Given the description of an element on the screen output the (x, y) to click on. 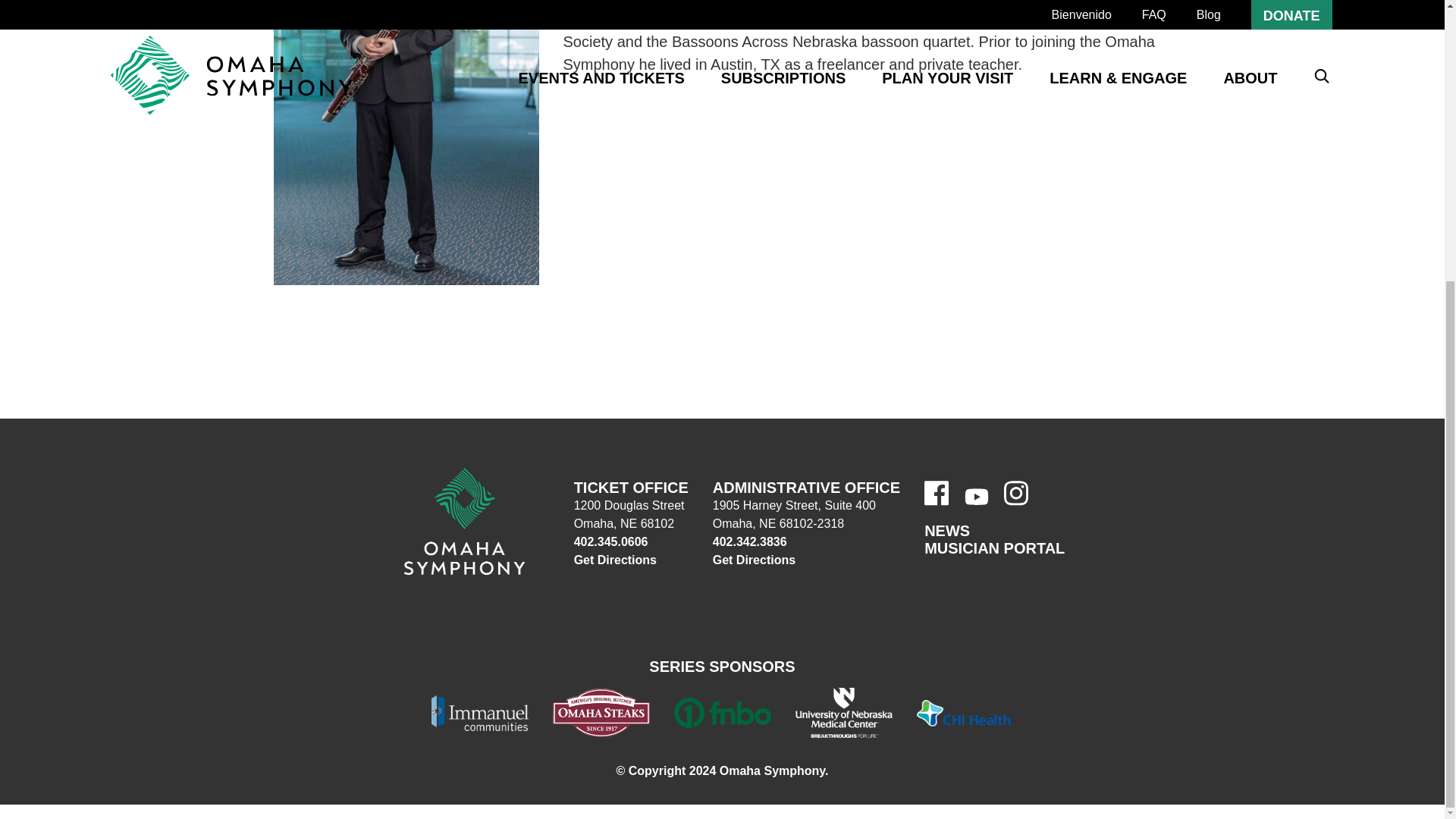
YouTube (975, 496)
